Given the description of an element on the screen output the (x, y) to click on. 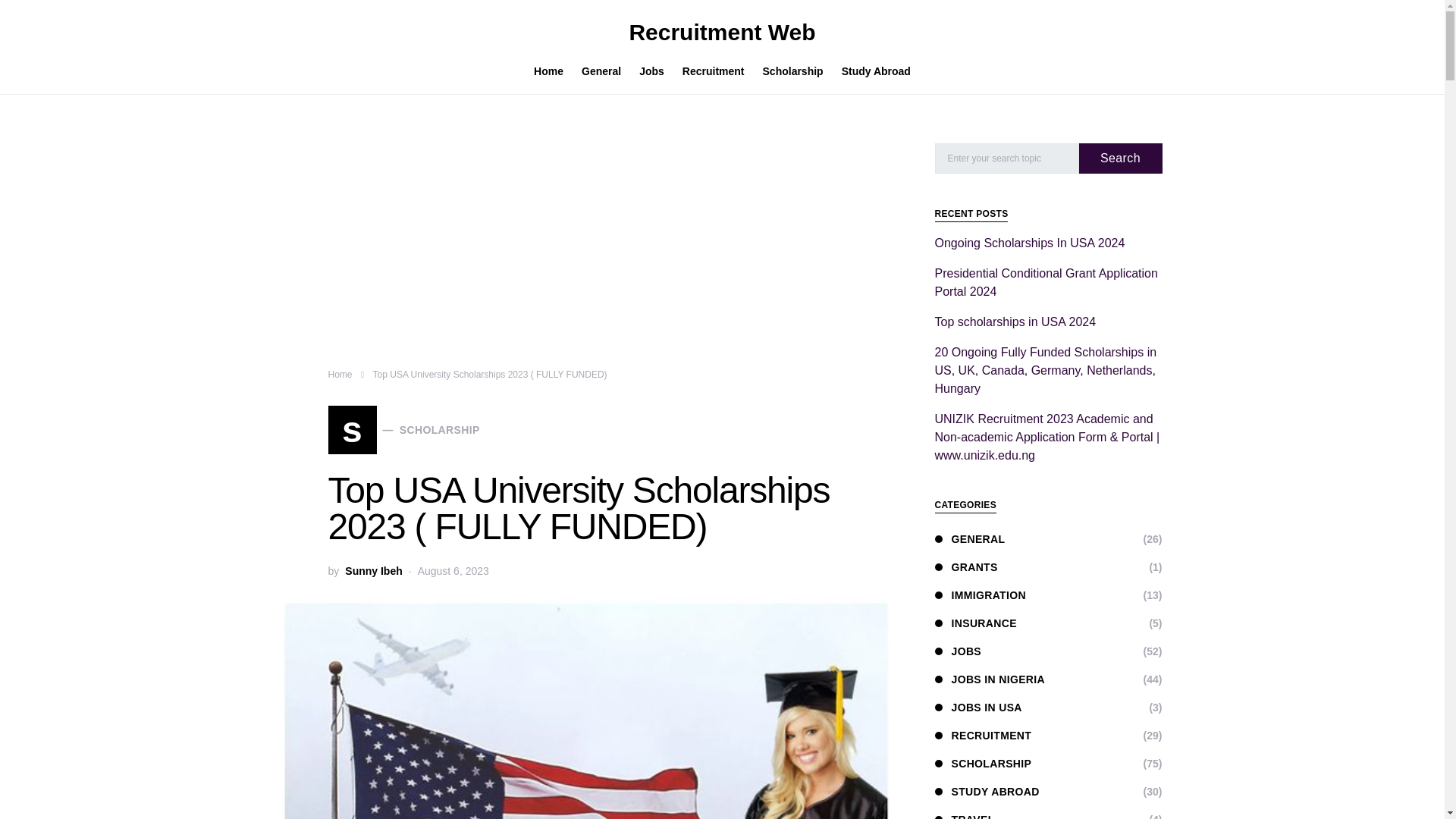
Recruitment Web (721, 32)
Sunny Ibeh (373, 571)
Advertisement (585, 255)
Recruitment (713, 71)
Scholarship (793, 71)
Study Abroad (871, 71)
Home (339, 374)
General (601, 71)
View all posts by Sunny Ibeh (403, 429)
